Given the description of an element on the screen output the (x, y) to click on. 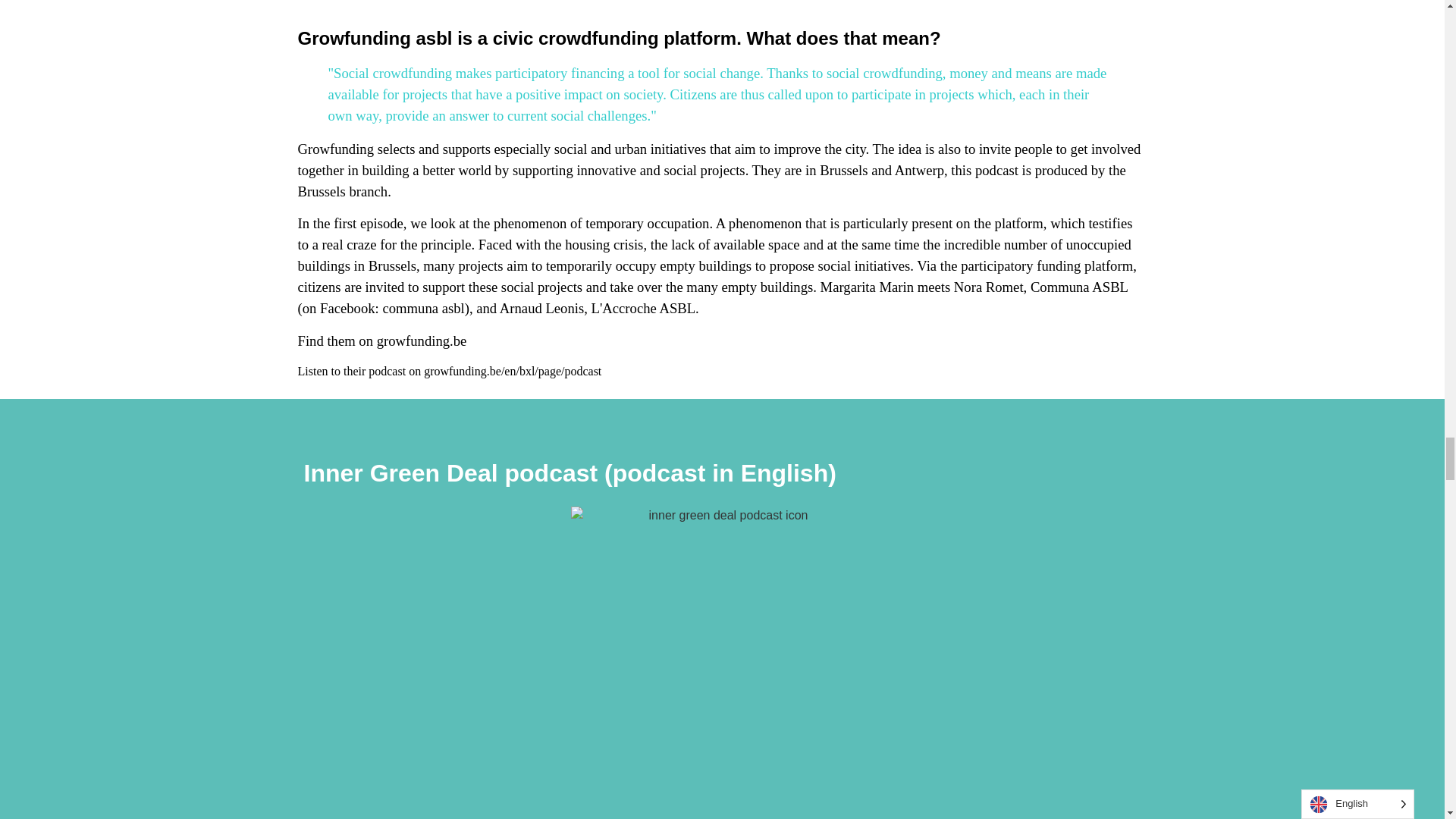
Communa ASBL (1078, 286)
